Given the description of an element on the screen output the (x, y) to click on. 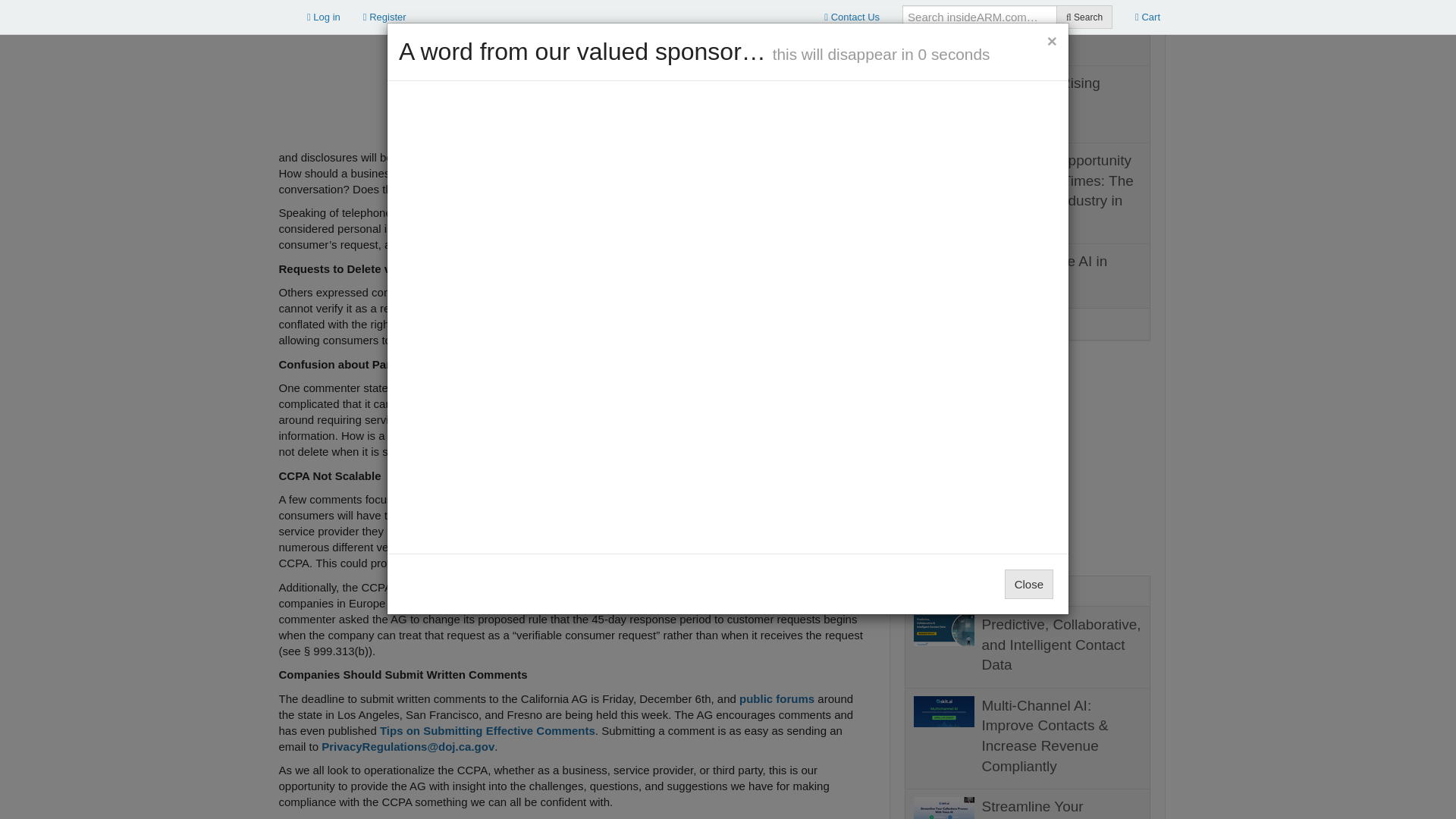
3rd party ad content (279, 63)
